Given the description of an element on the screen output the (x, y) to click on. 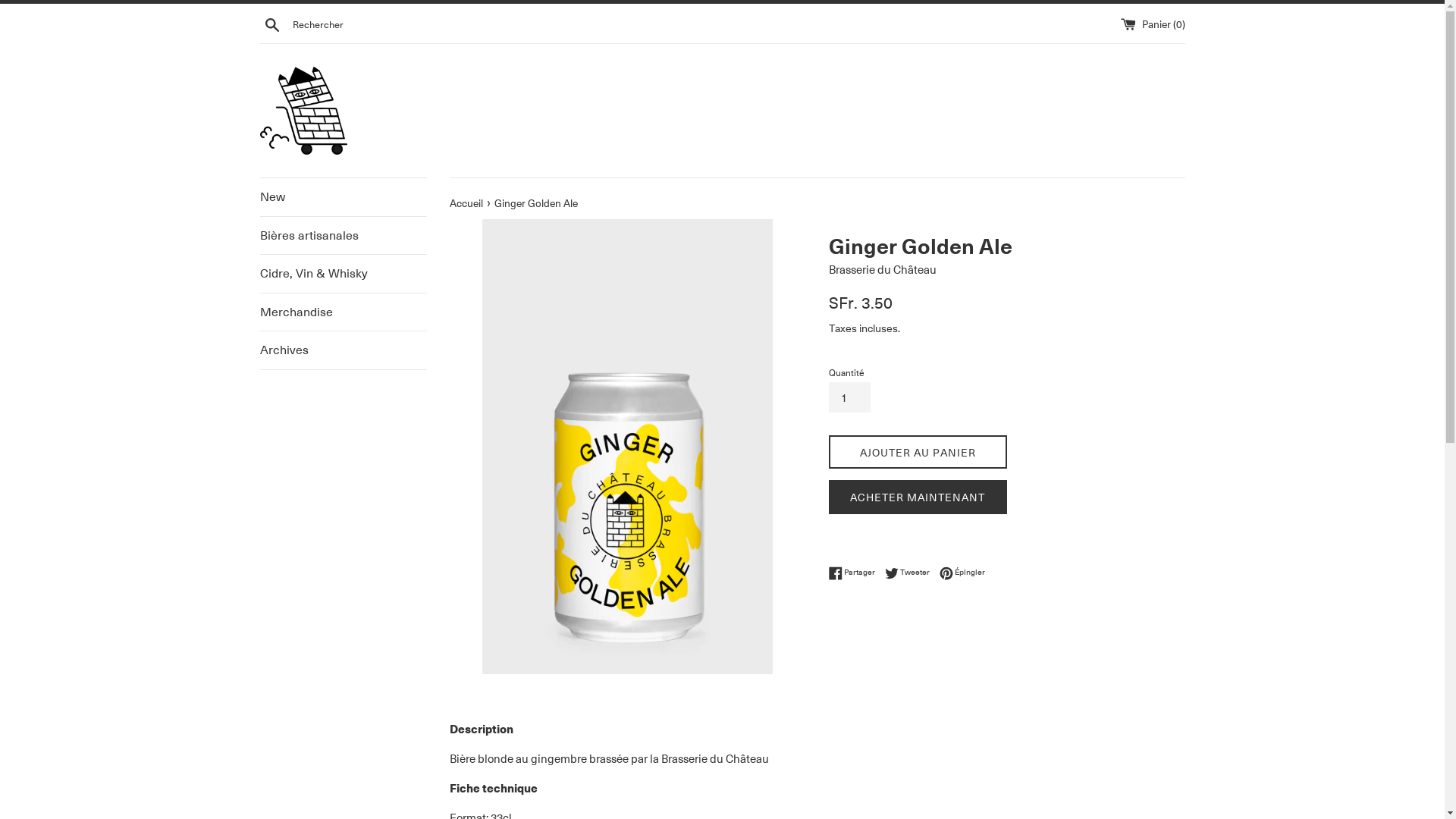
ACHETER MAINTENANT Element type: text (917, 497)
Archives Element type: text (342, 350)
Partager
Partager sur Facebook Element type: text (854, 572)
AJOUTER AU PANIER Element type: text (917, 452)
Merchandise Element type: text (342, 312)
Panier (0) Element type: text (1152, 22)
Tweeter
Tweeter sur Twitter Element type: text (910, 572)
Cidre, Vin & Whisky Element type: text (342, 273)
Accueil Element type: text (466, 202)
New Element type: text (342, 197)
Recherche Element type: text (271, 23)
